Given the description of an element on the screen output the (x, y) to click on. 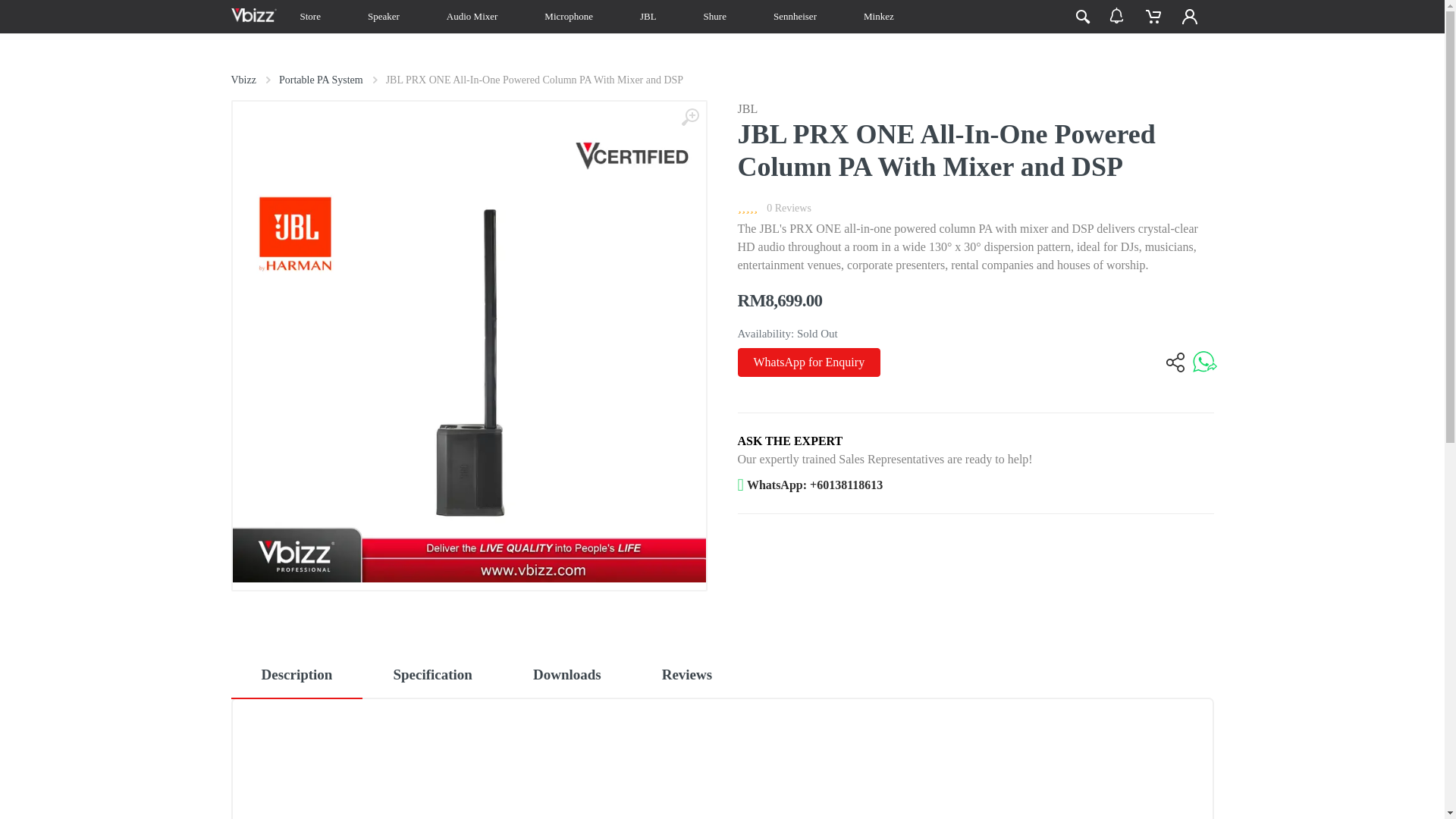
Shure (715, 16)
Speaker (383, 16)
Vbizz (243, 79)
Downloads (566, 675)
Microphone (568, 16)
JBL (648, 16)
Portable PA System (320, 79)
Sennheiser (795, 16)
Store (310, 16)
Reviews (686, 675)
JBL (746, 108)
Minkez (879, 16)
Audio Mixer (472, 16)
Description (296, 675)
Specification (432, 675)
